Given the description of an element on the screen output the (x, y) to click on. 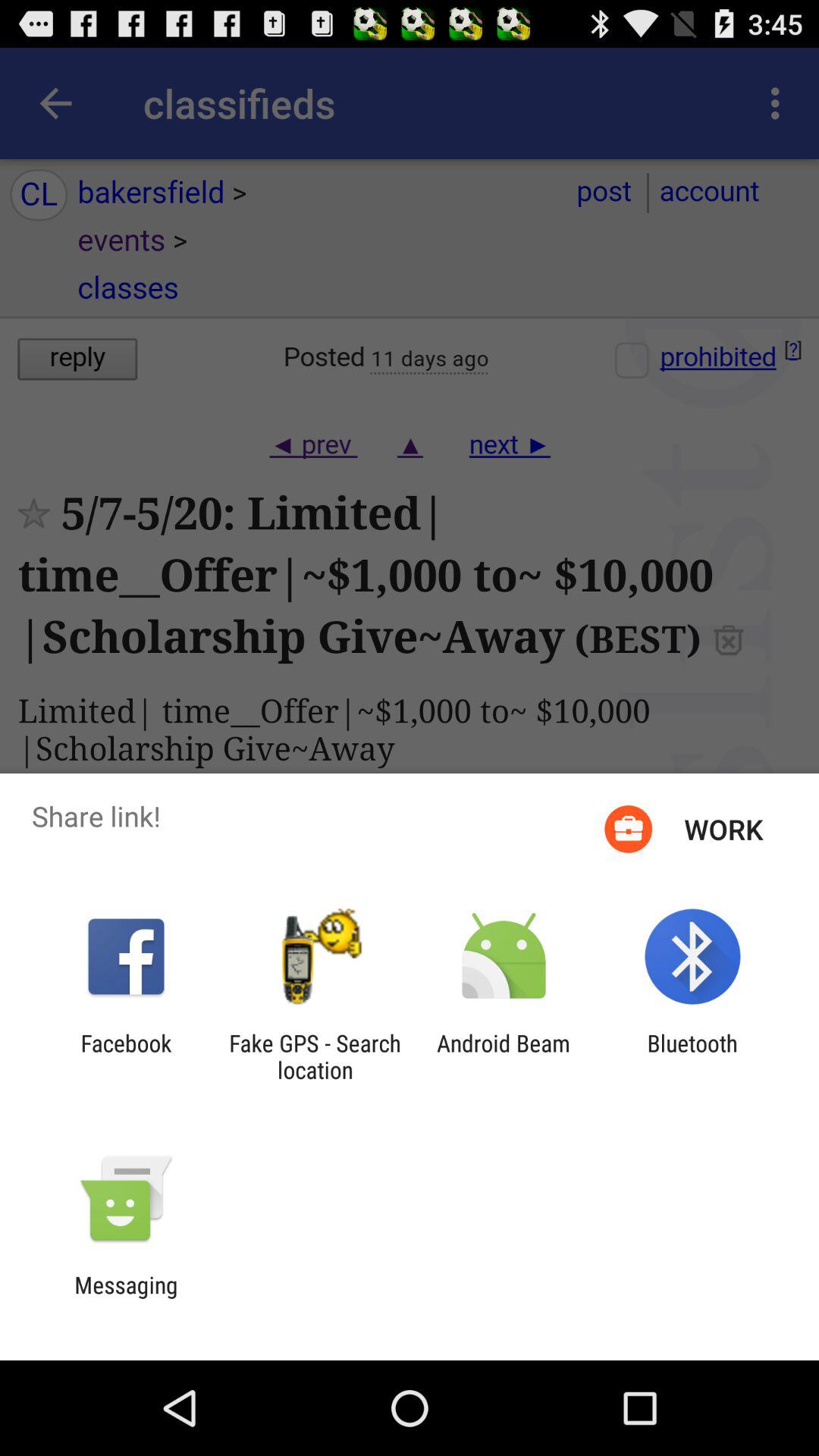
press the item to the right of android beam (692, 1056)
